Given the description of an element on the screen output the (x, y) to click on. 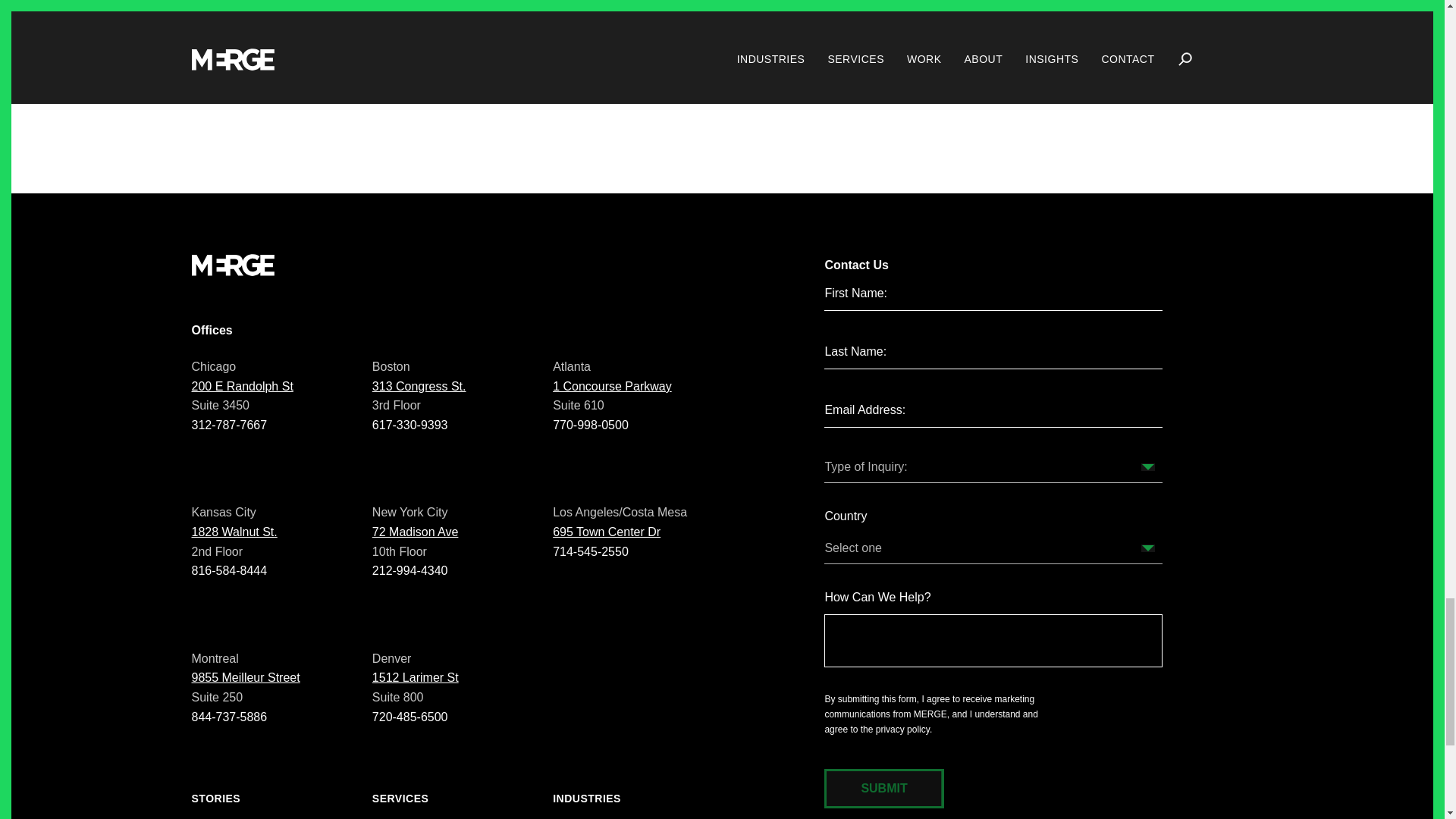
Your company email (992, 410)
Merge Logo (231, 264)
